Given the description of an element on the screen output the (x, y) to click on. 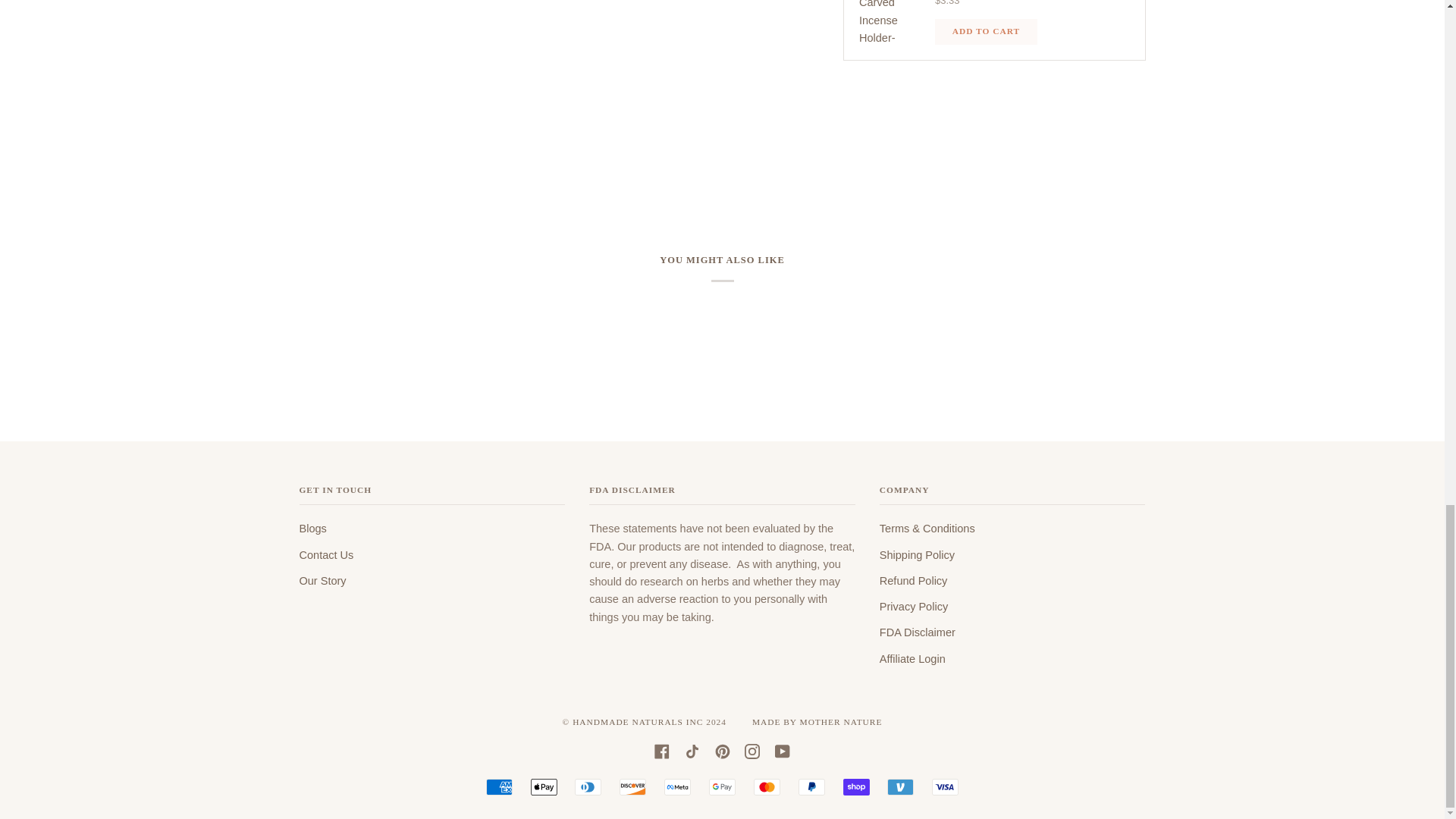
Instagram (752, 751)
Pinterest (721, 751)
GOOGLE PAY (722, 786)
APPLE PAY (544, 786)
DINERS CLUB (588, 786)
Facebook (661, 751)
META PAY (676, 786)
YouTube (782, 751)
PAYPAL (811, 786)
Tiktok (692, 751)
SHOP PAY (856, 786)
AMERICAN EXPRESS (499, 786)
MASTERCARD (767, 786)
DISCOVER (633, 786)
